Given the description of an element on the screen output the (x, y) to click on. 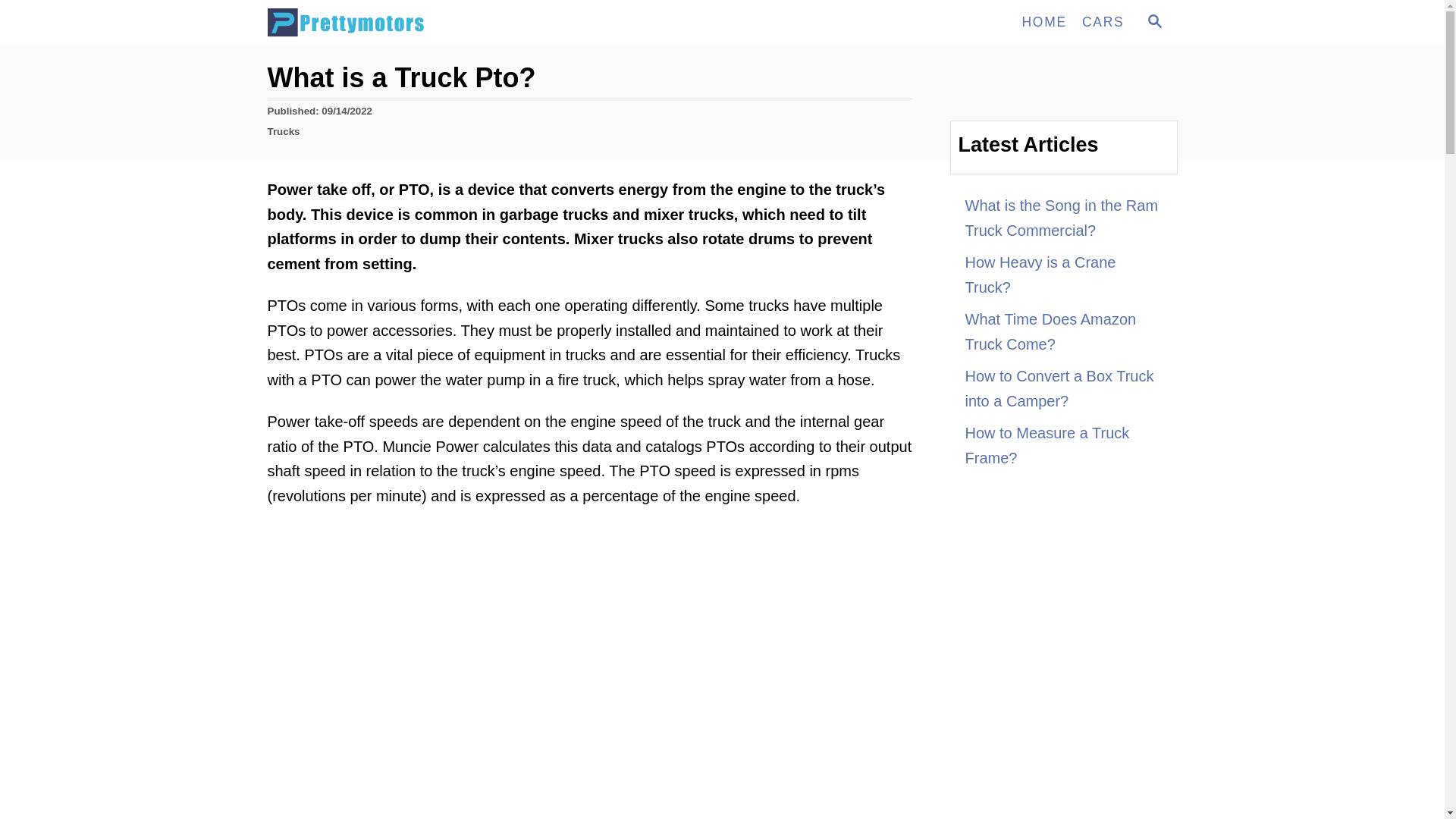
What is the Song in the Ram Truck Commercial? (1062, 217)
MAGNIFYING GLASS (1153, 21)
Trucks (282, 131)
How to Convert a Box Truck into a Camper? (1062, 388)
Prettymotors (403, 22)
What Time Does Amazon Truck Come? (1062, 331)
HOME (1153, 22)
How Heavy is a Crane Truck? (1043, 22)
CARS (1062, 274)
